Given the description of an element on the screen output the (x, y) to click on. 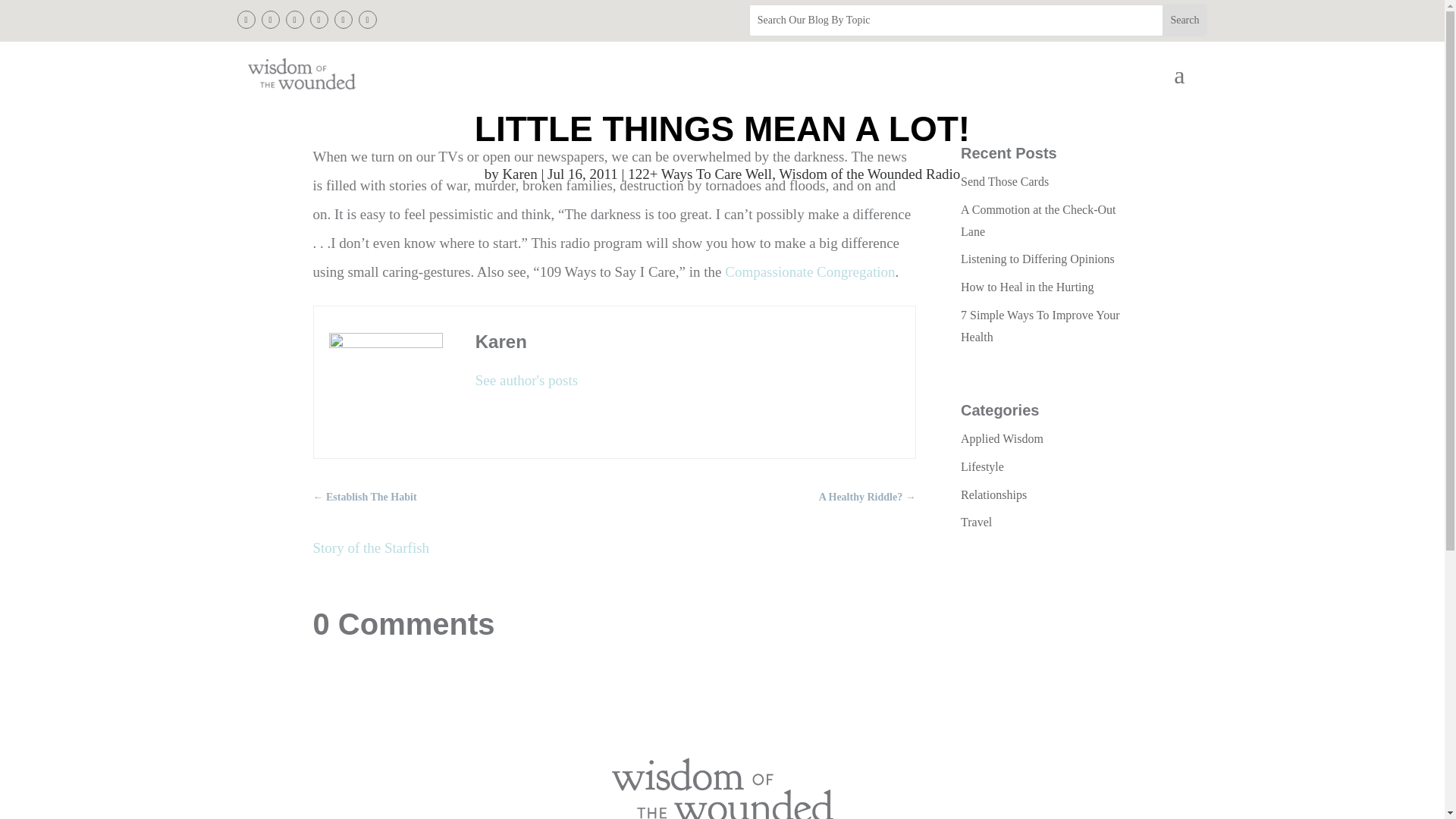
How to Heal in the Hurting (1027, 286)
Story of the Starfish (371, 547)
7 Simple Ways To Improve Your Health (1039, 325)
Compassionate Congregation (810, 271)
Wisdom of the Wounded Radio (868, 173)
Follow on Spotify (342, 19)
Posts by Karen (519, 173)
Follow on Twitter (269, 19)
Karen (519, 173)
Follow on Youtube (366, 19)
